Given the description of an element on the screen output the (x, y) to click on. 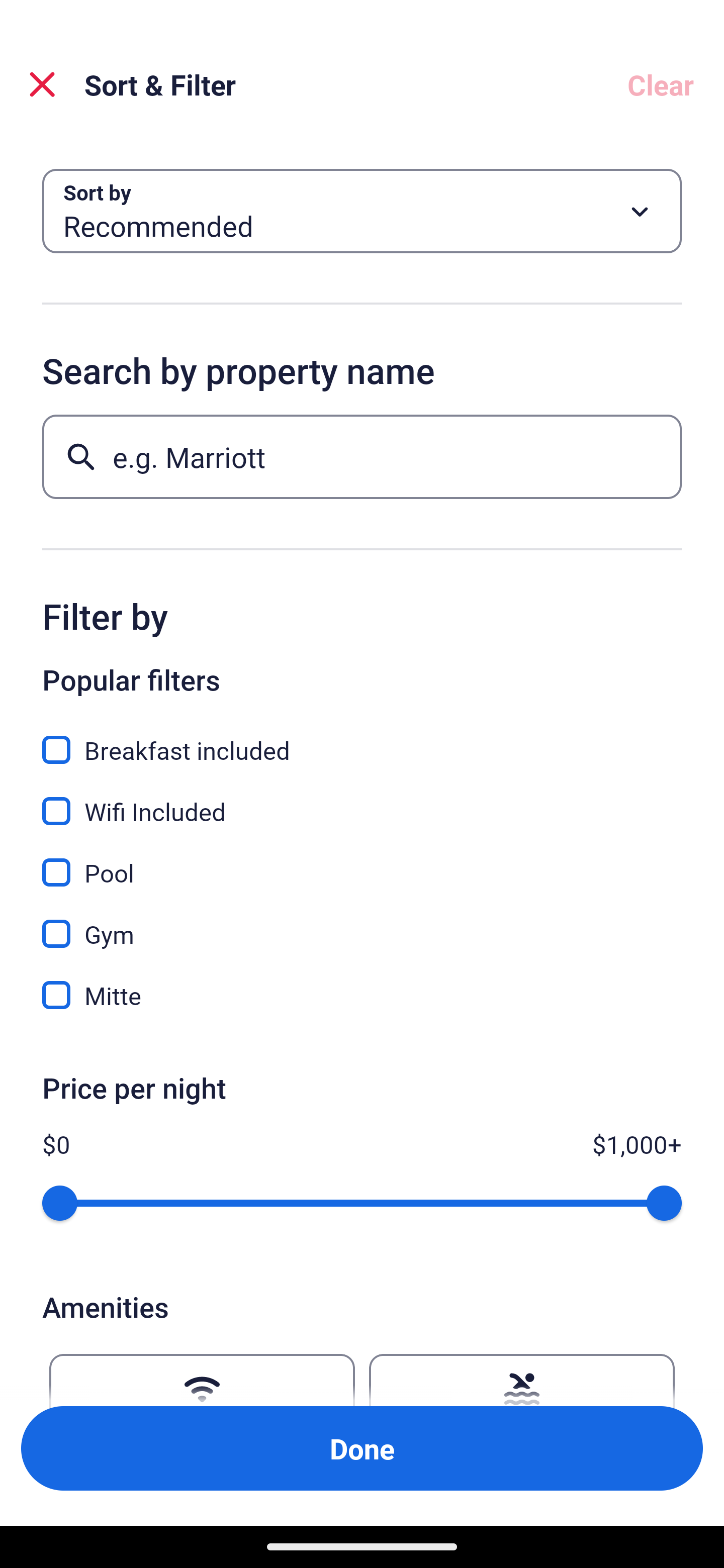
Close Sort and Filter (42, 84)
Clear (660, 84)
Sort by Button Recommended (361, 211)
e.g. Marriott Button (361, 455)
Breakfast included, Breakfast included (361, 738)
Wifi Included, Wifi Included (361, 800)
Pool, Pool (361, 861)
Gym, Gym (361, 922)
Mitte, Mitte (361, 995)
Apply and close Sort and Filter Done (361, 1448)
